Given the description of an element on the screen output the (x, y) to click on. 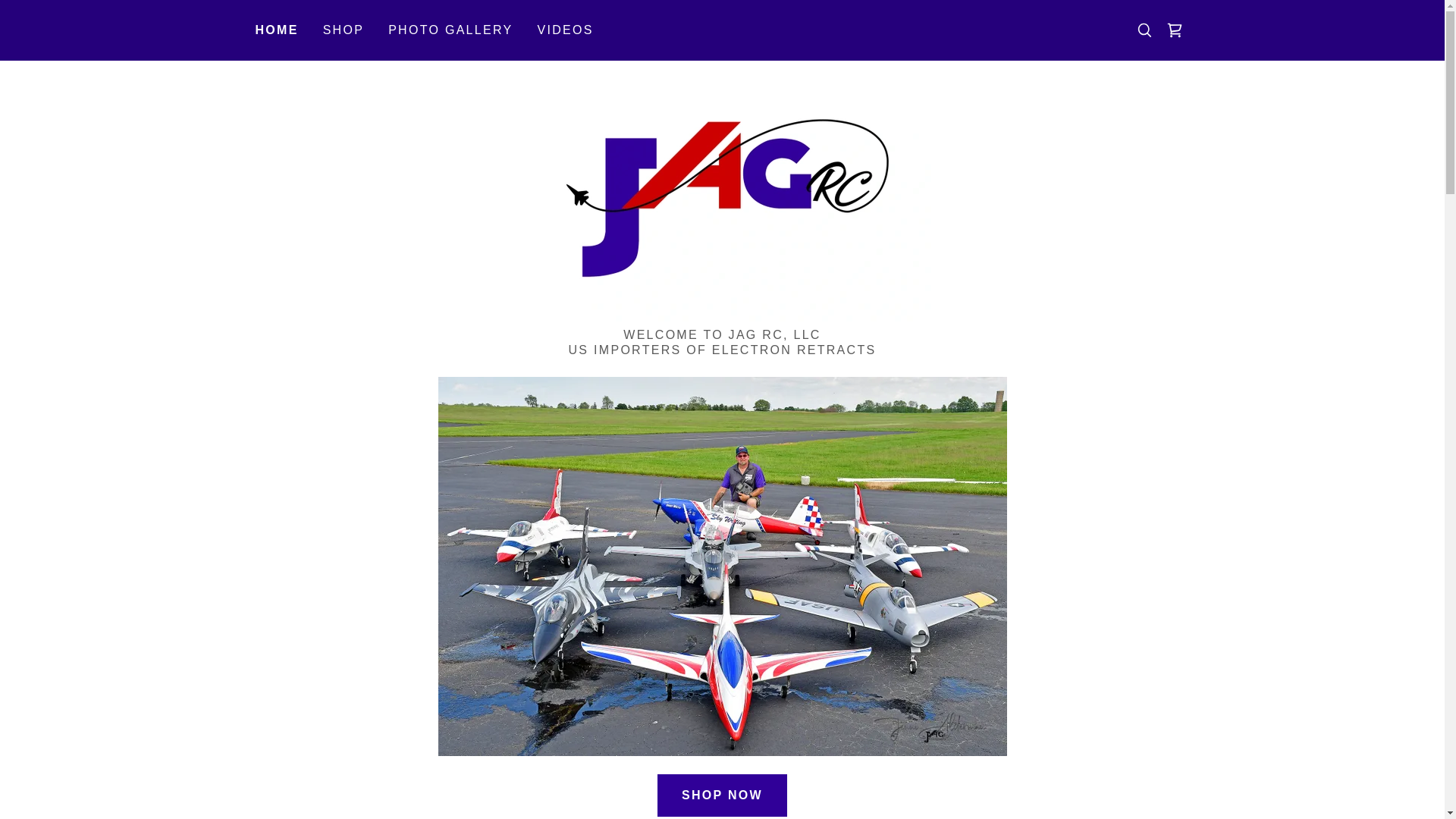
SHOP (343, 30)
VIDEOS (564, 30)
SHOP NOW (722, 794)
PHOTO GALLERY (450, 30)
HOME (276, 30)
